Given the description of an element on the screen output the (x, y) to click on. 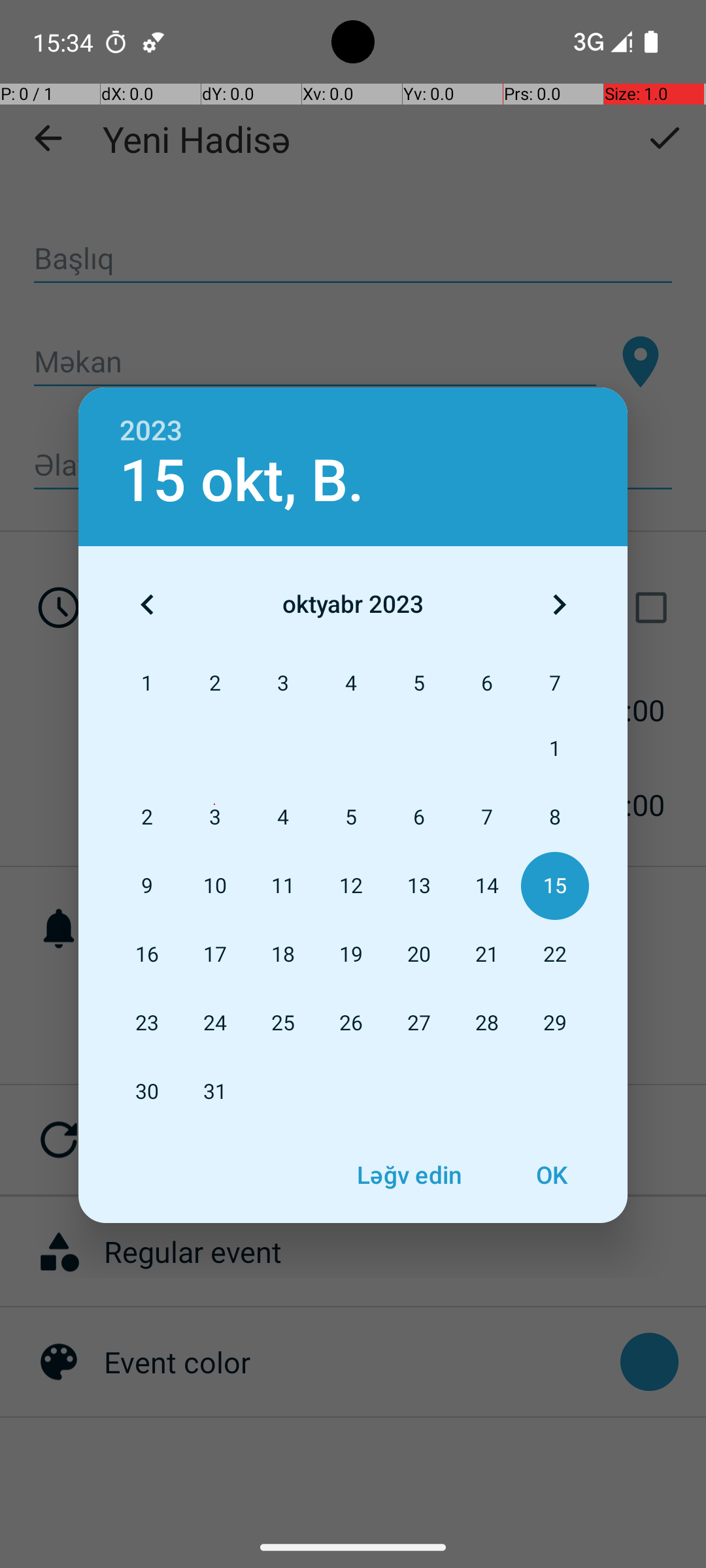
15 okt, B. Element type: android.widget.TextView (241, 480)
Keçən ay Element type: android.widget.ImageButton (146, 604)
Gələn ay Element type: android.widget.ImageButton (558, 604)
Ləğv edin Element type: android.widget.Button (409, 1174)
